Given the description of an element on the screen output the (x, y) to click on. 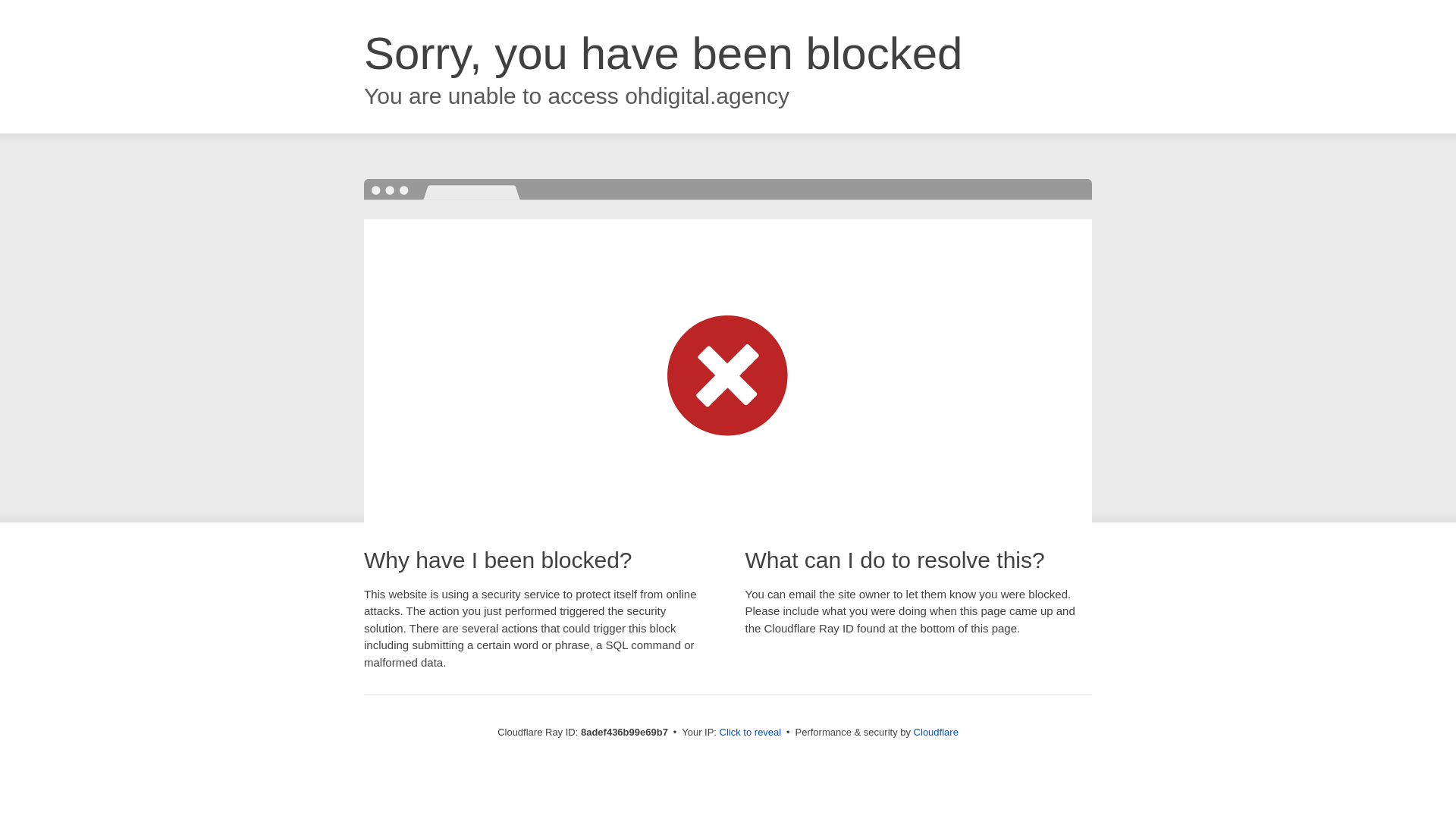
Click to reveal (750, 732)
Cloudflare (936, 731)
